Given the description of an element on the screen output the (x, y) to click on. 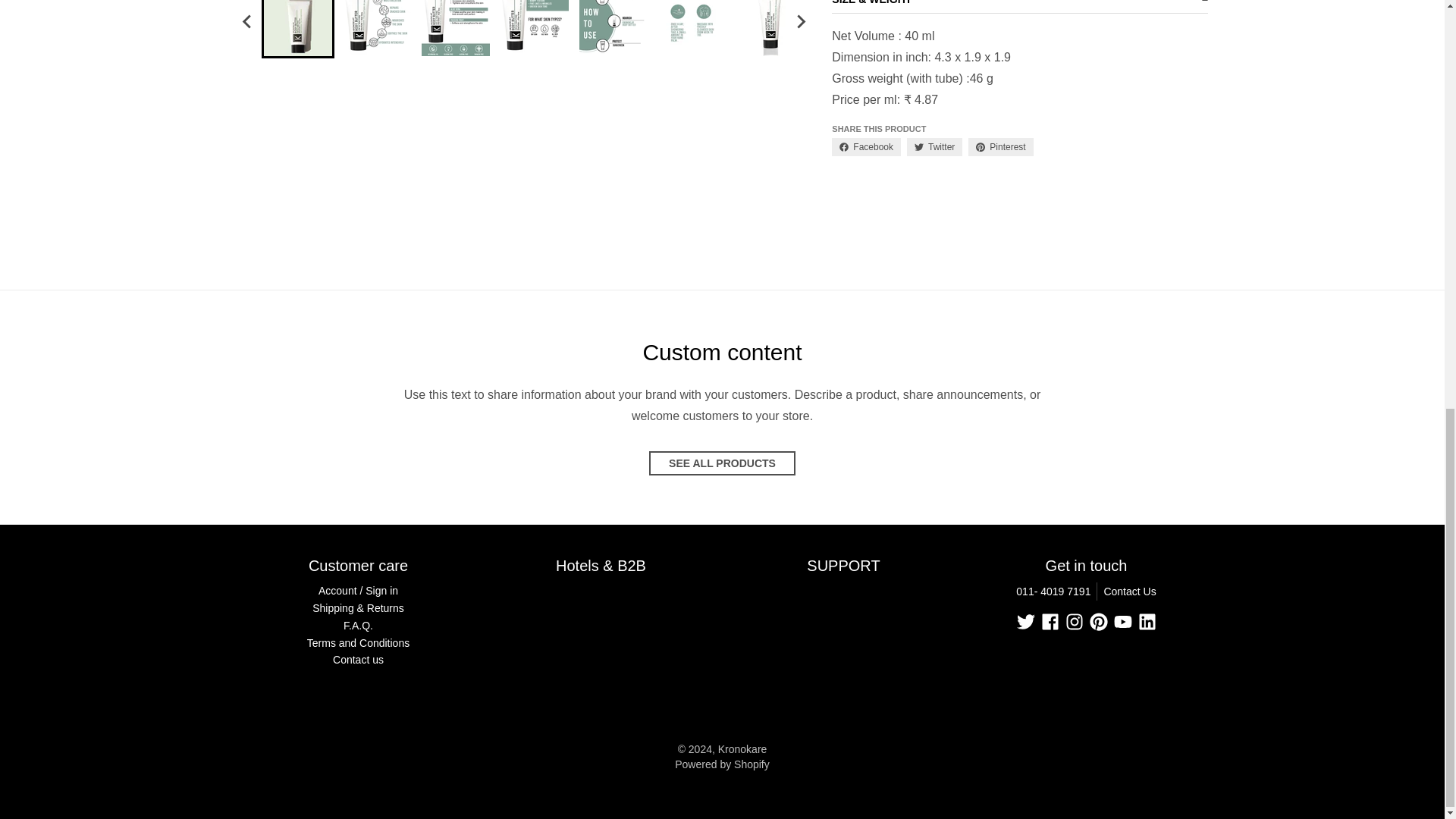
Pinterest - Kronokare (1097, 621)
YouTube - Kronokare (1122, 621)
LinkedIn - Kronokare (1146, 621)
Twitter - Kronokare (1024, 621)
Instagram - Kronokare (1073, 621)
Facebook - Kronokare (1049, 621)
